Given the description of an element on the screen output the (x, y) to click on. 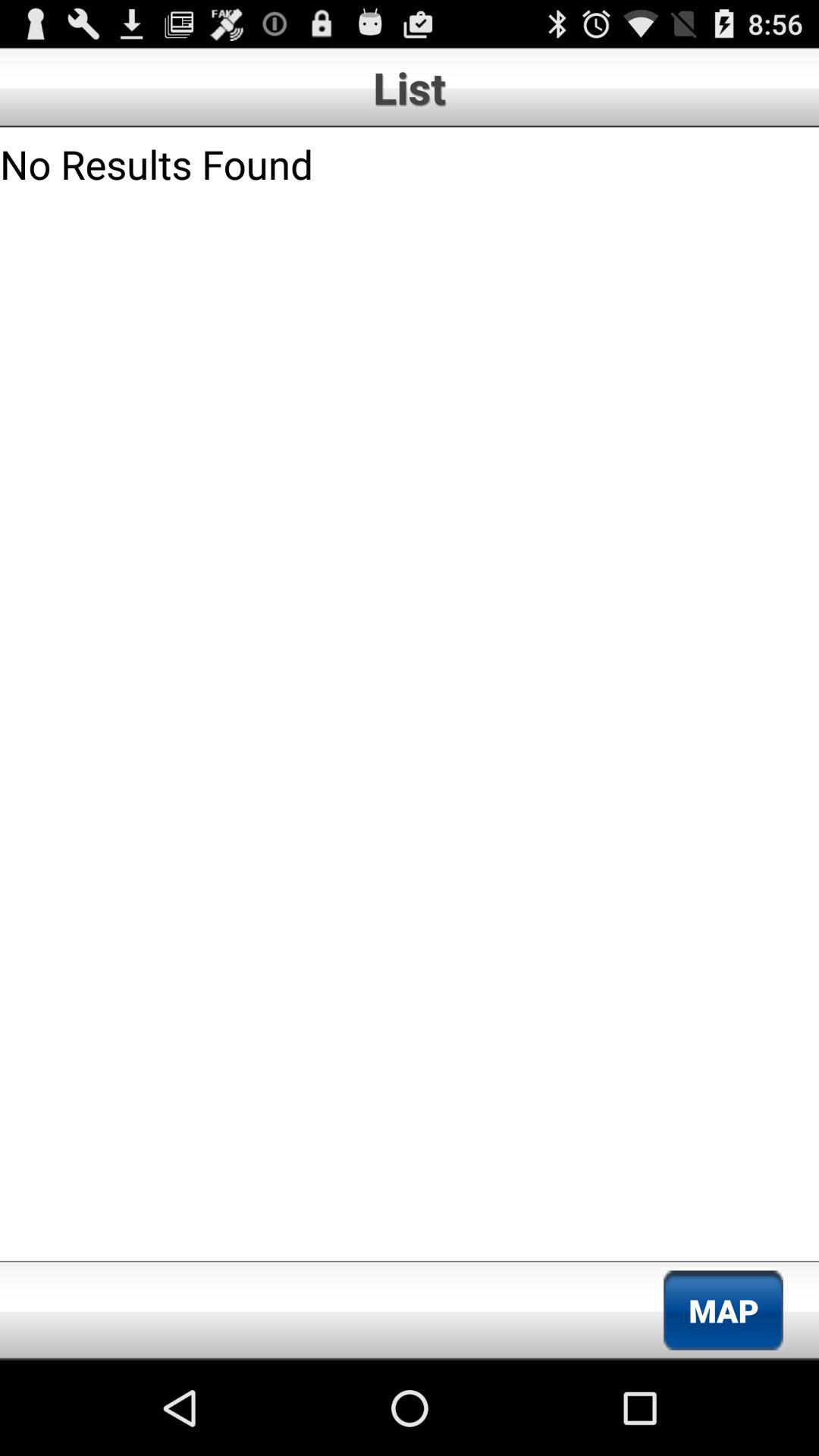
turn off the map icon (723, 1310)
